Given the description of an element on the screen output the (x, y) to click on. 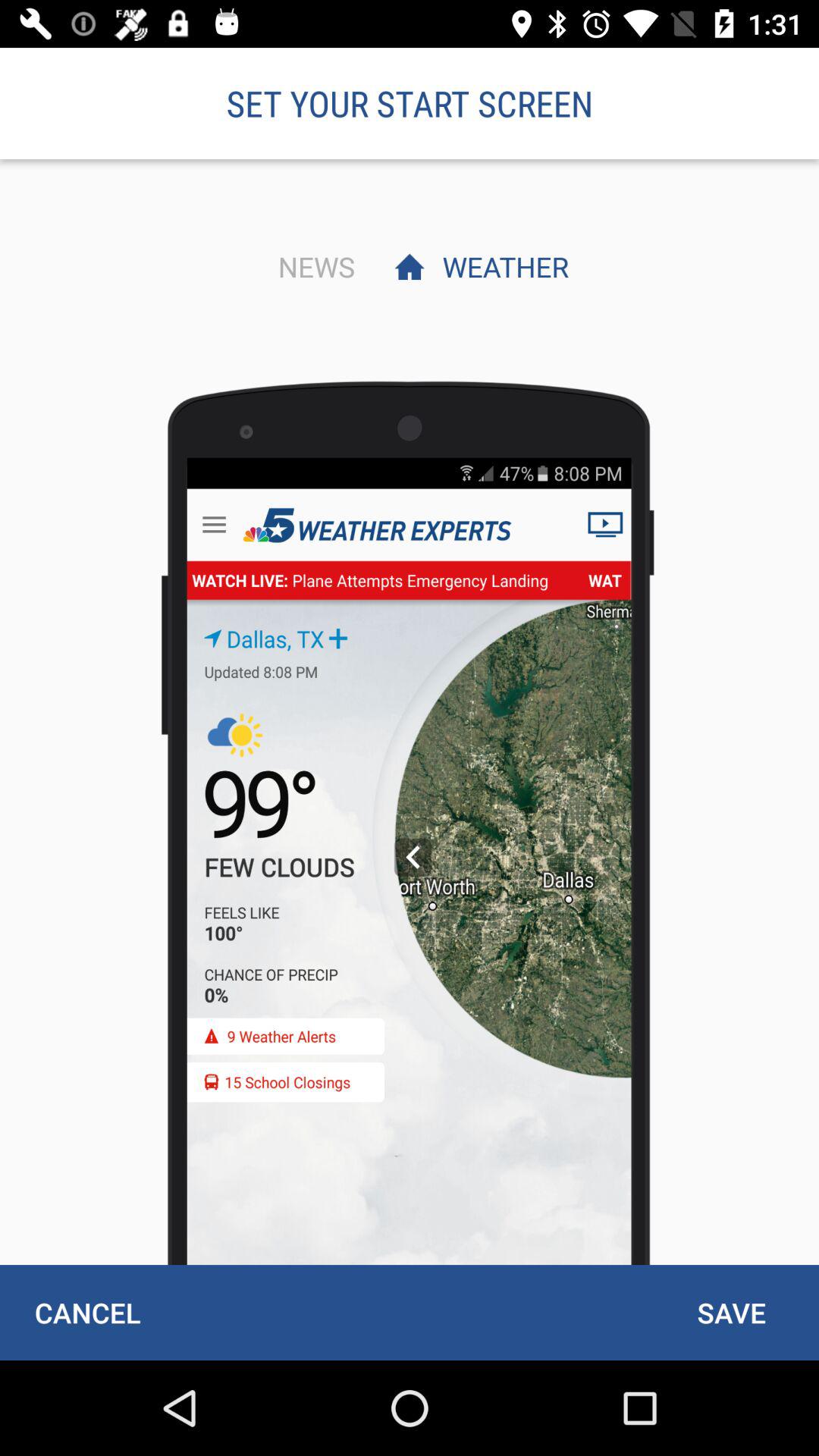
click the item below the set your start item (312, 266)
